Given the description of an element on the screen output the (x, y) to click on. 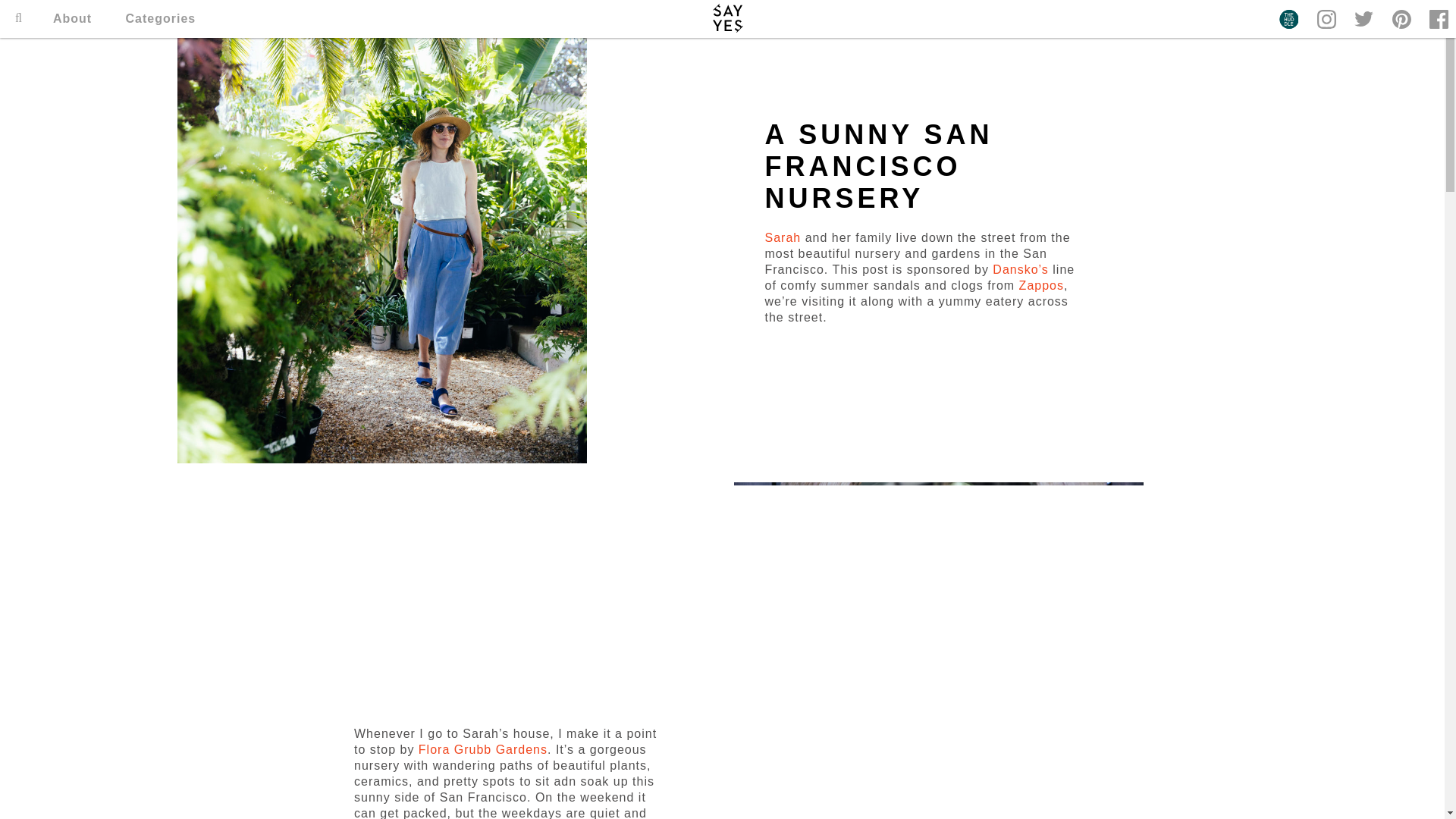
Zappos (1039, 285)
About (71, 18)
Categories (160, 18)
Sarah (782, 237)
Flora Grubb Gardens (483, 748)
